Given the description of an element on the screen output the (x, y) to click on. 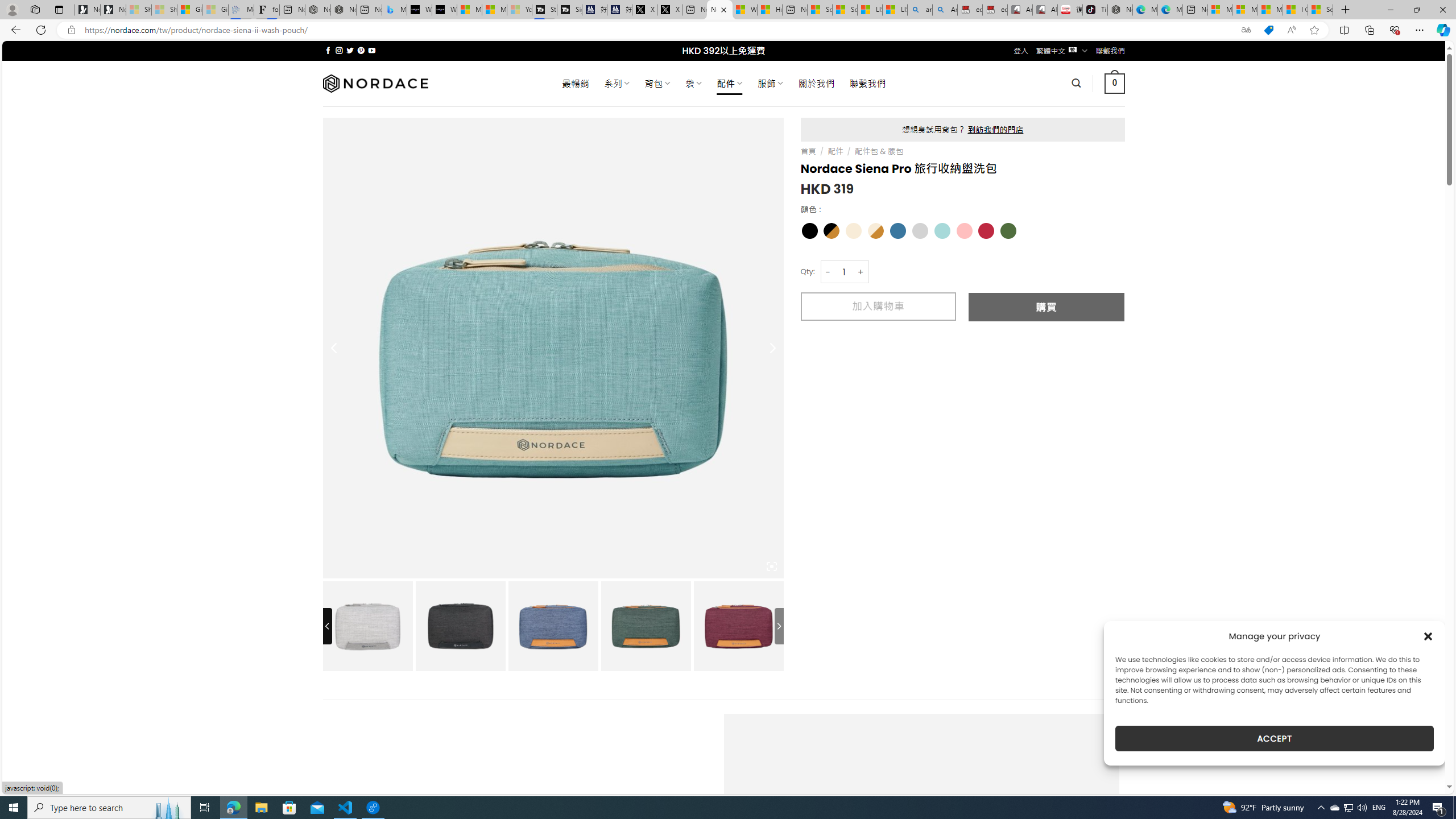
Follow on Twitter (349, 50)
Class: iconic-woothumbs-fullscreen (771, 566)
All Cubot phones (1044, 9)
